Given the description of an element on the screen output the (x, y) to click on. 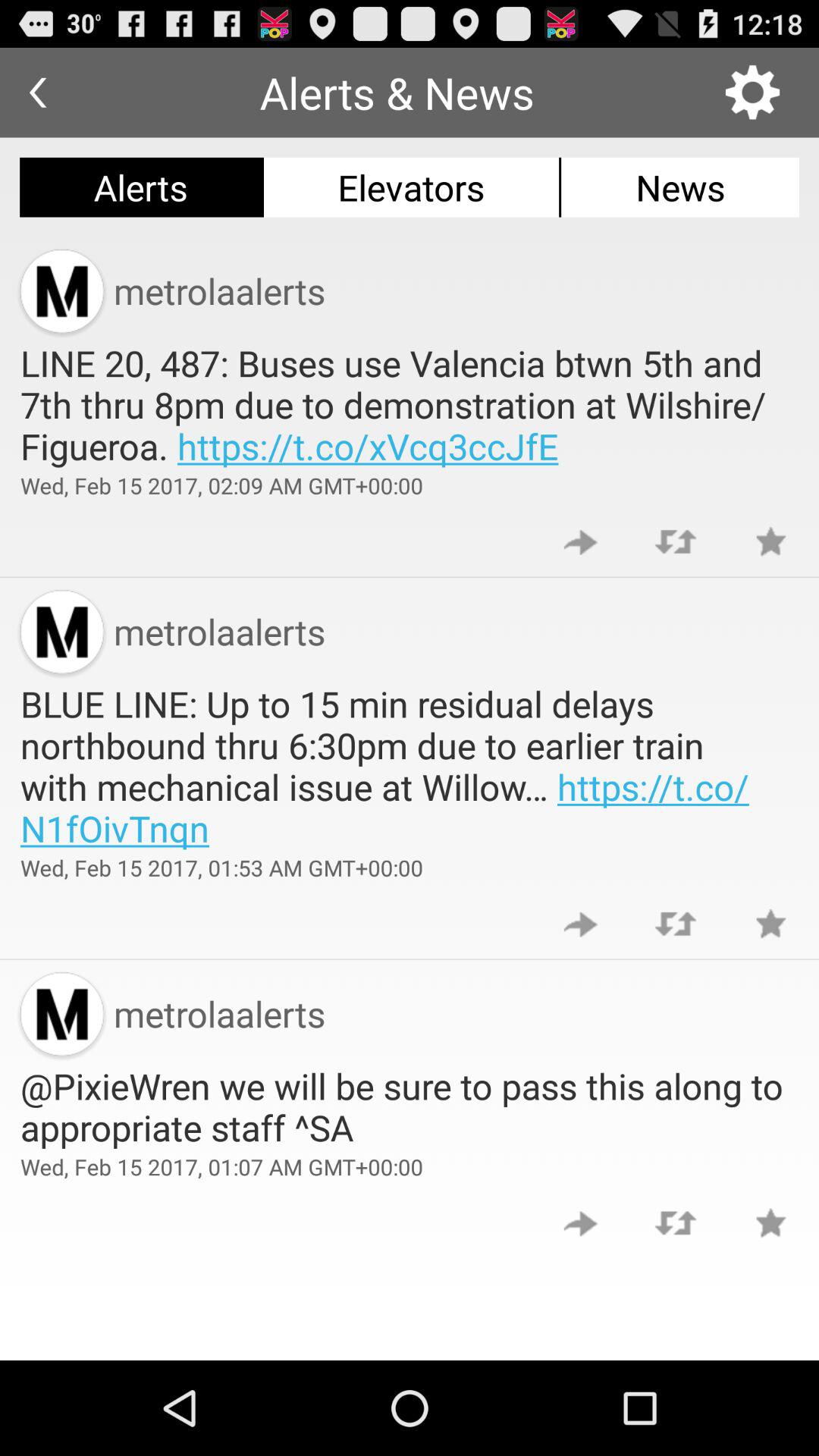
click the pixiewren we will app (409, 1106)
